Given the description of an element on the screen output the (x, y) to click on. 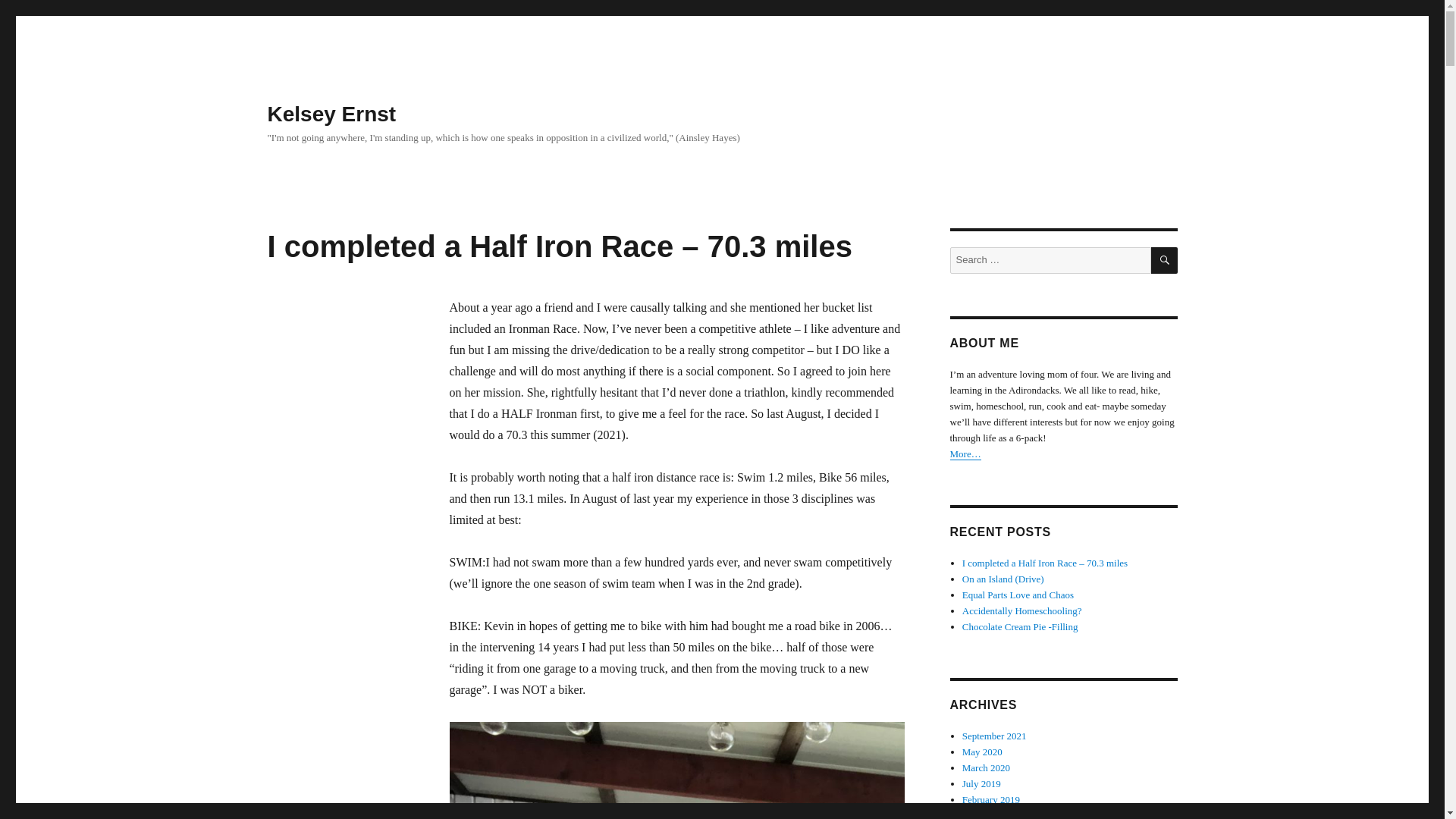
September 2021 (994, 736)
February 2019 (991, 799)
March 2020 (986, 767)
Kelsey Ernst (331, 114)
Chocolate Cream Pie -Filling (1020, 626)
July 2019 (981, 783)
SEARCH (1164, 260)
May 2020 (982, 751)
January 2019 (988, 814)
Equal Parts Love and Chaos (1018, 594)
